Given the description of an element on the screen output the (x, y) to click on. 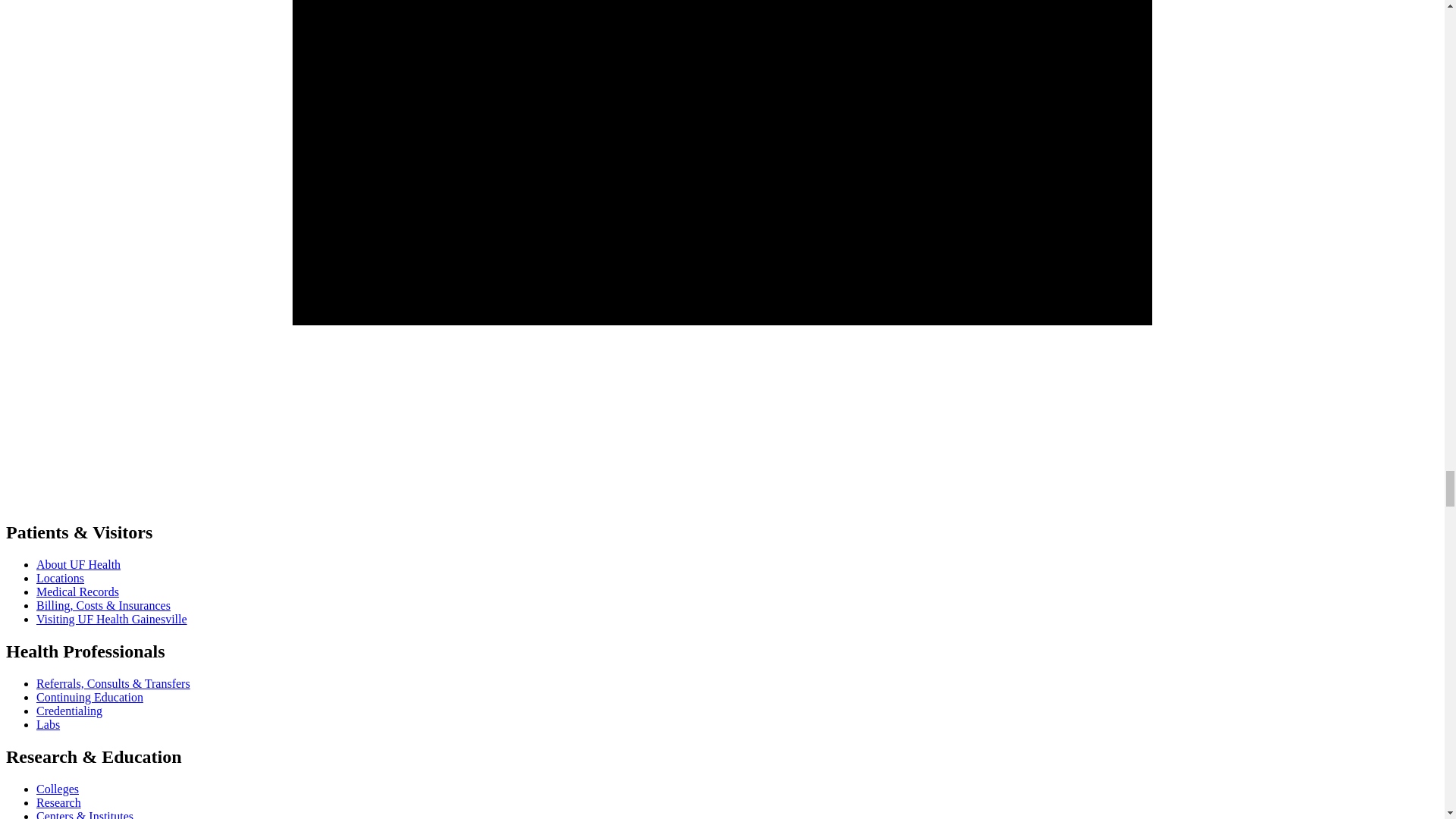
Colleges (57, 788)
Labs (47, 724)
Locations (60, 577)
Medical Records (77, 591)
About UF Health (78, 563)
Continuing Education (89, 697)
Credentialing (68, 710)
Research (58, 802)
Visiting UF Health Gainesville (111, 618)
